Given the description of an element on the screen output the (x, y) to click on. 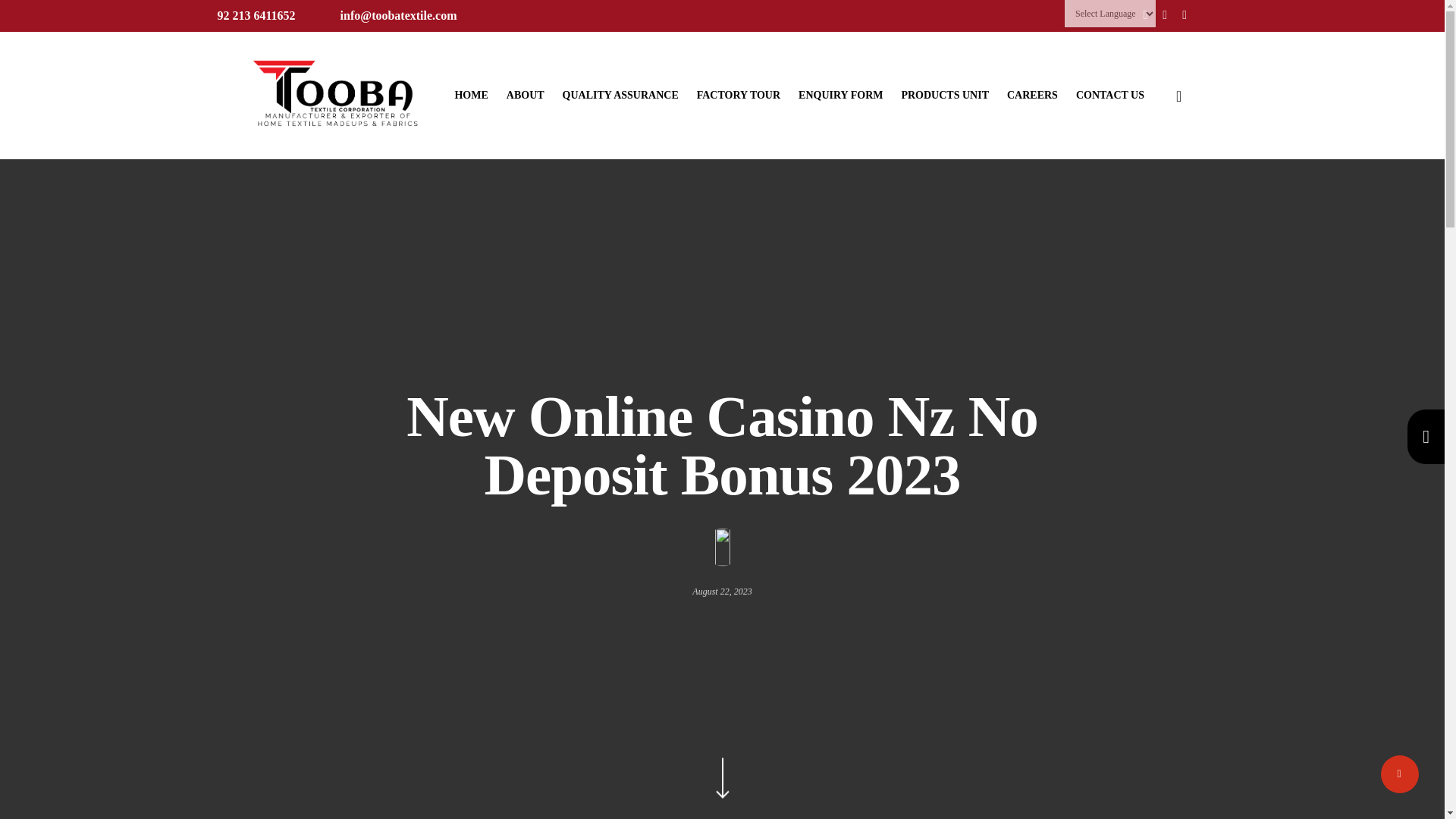
FACTORY TOUR (738, 95)
CAREERS (1032, 95)
HOME (470, 95)
PRODUCTS UNIT (944, 95)
ENQUIRY FORM (839, 95)
QUALITY ASSURANCE (620, 95)
CONTACT US (1109, 95)
92 213 6411652 (255, 15)
ABOUT (525, 95)
